Given the description of an element on the screen output the (x, y) to click on. 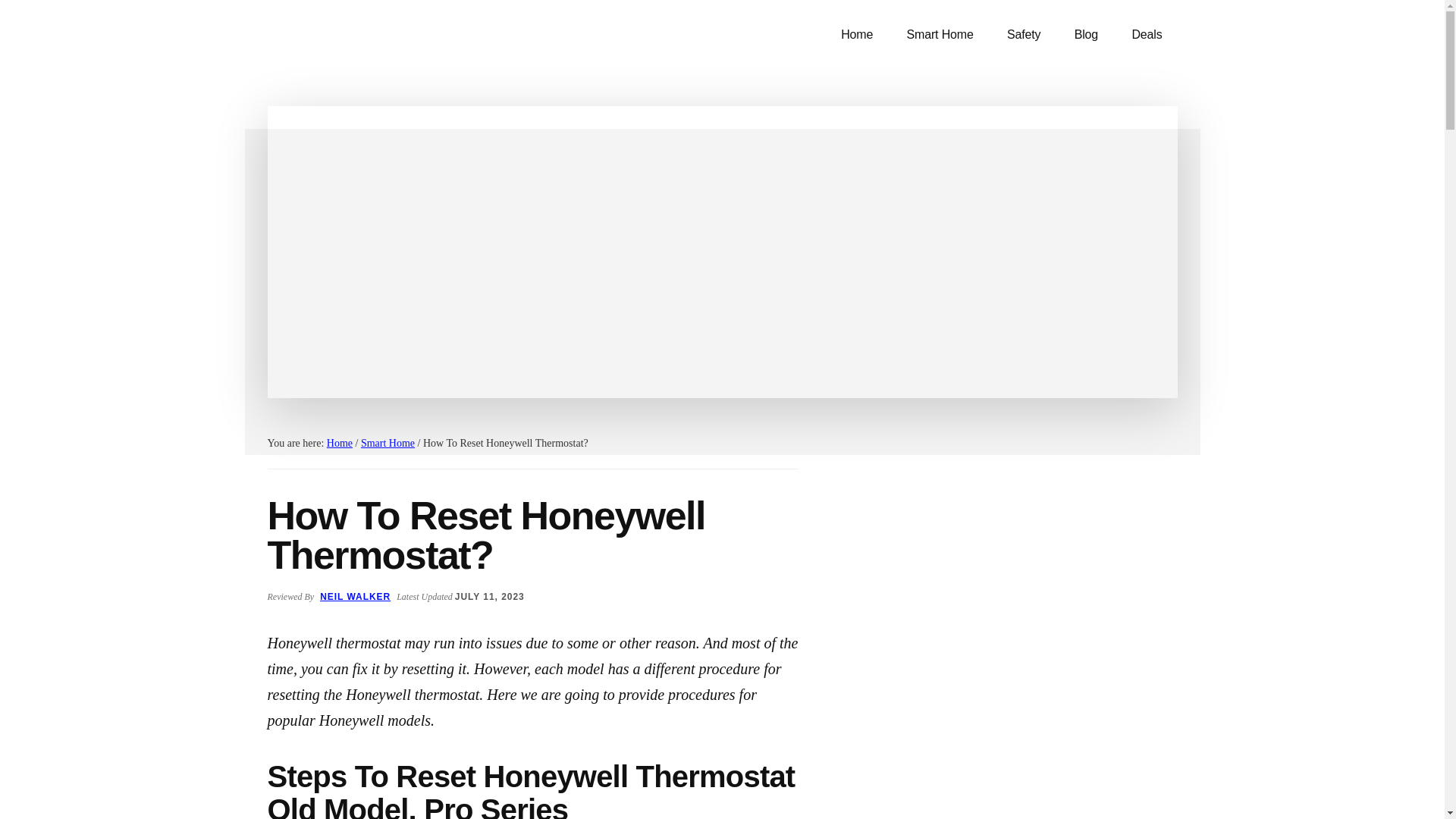
NEIL WALKER (355, 596)
Home (339, 442)
Home (856, 34)
Blog (1086, 34)
Deals (1146, 34)
BeOnHome (380, 45)
Smart Home (939, 34)
Safety (1023, 34)
Smart Home (387, 442)
